Given the description of an element on the screen output the (x, y) to click on. 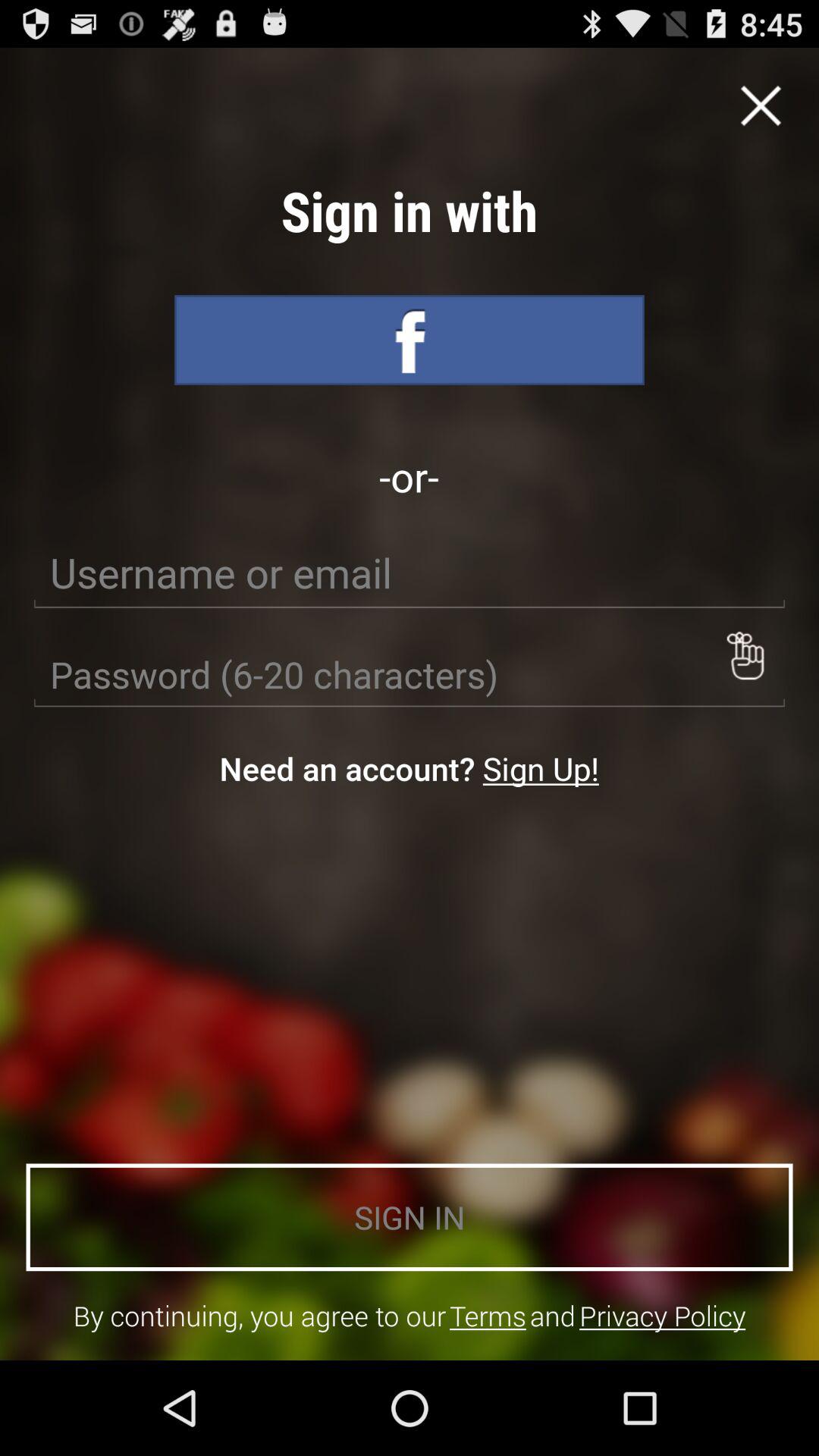
scroll until the sign up! icon (540, 767)
